Given the description of an element on the screen output the (x, y) to click on. 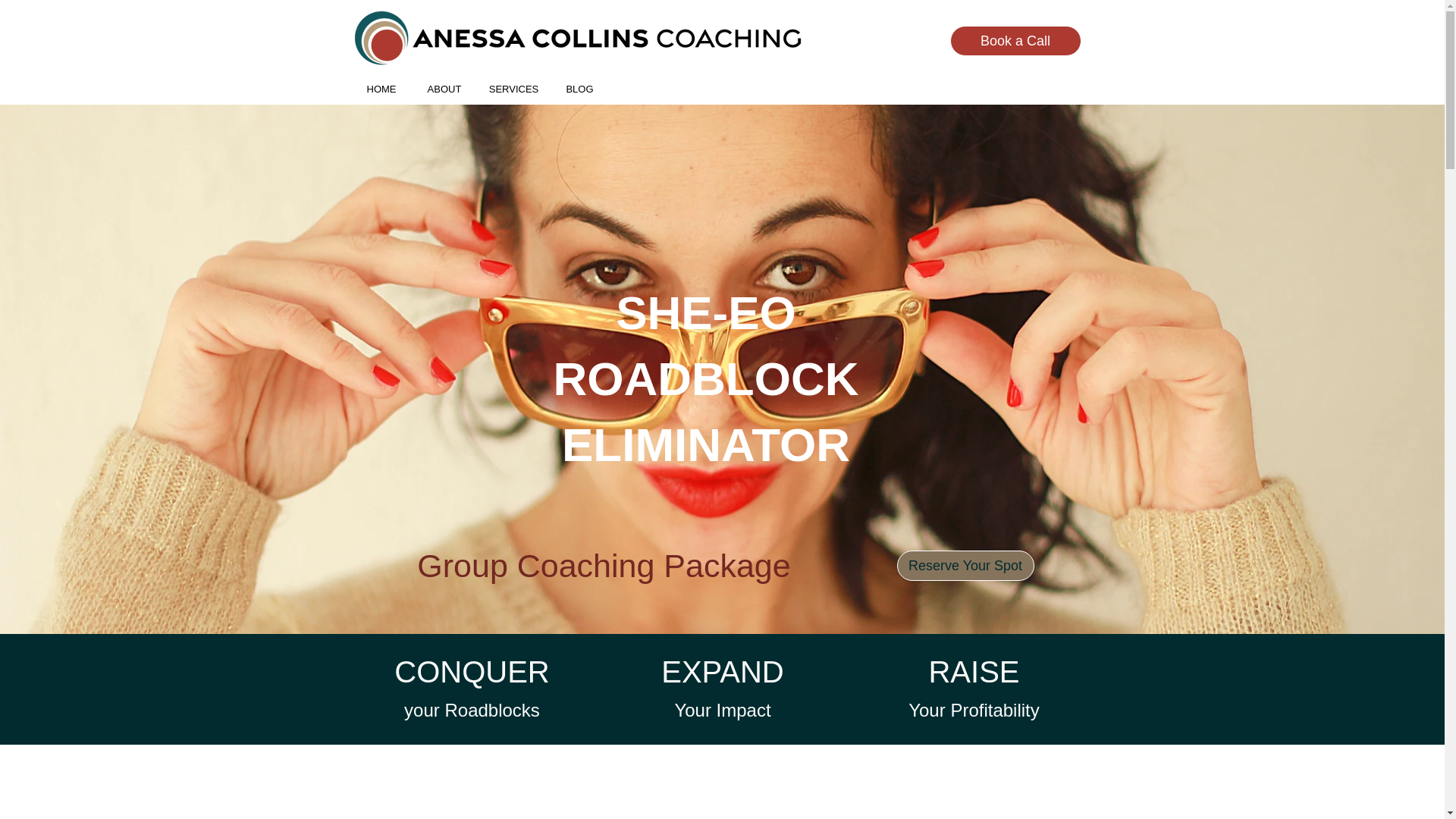
SERVICES (513, 88)
BLOG (579, 88)
Book a Call (1014, 40)
HOME (381, 88)
Reserve Your Spot (964, 565)
ABOUT (444, 88)
